Given the description of an element on the screen output the (x, y) to click on. 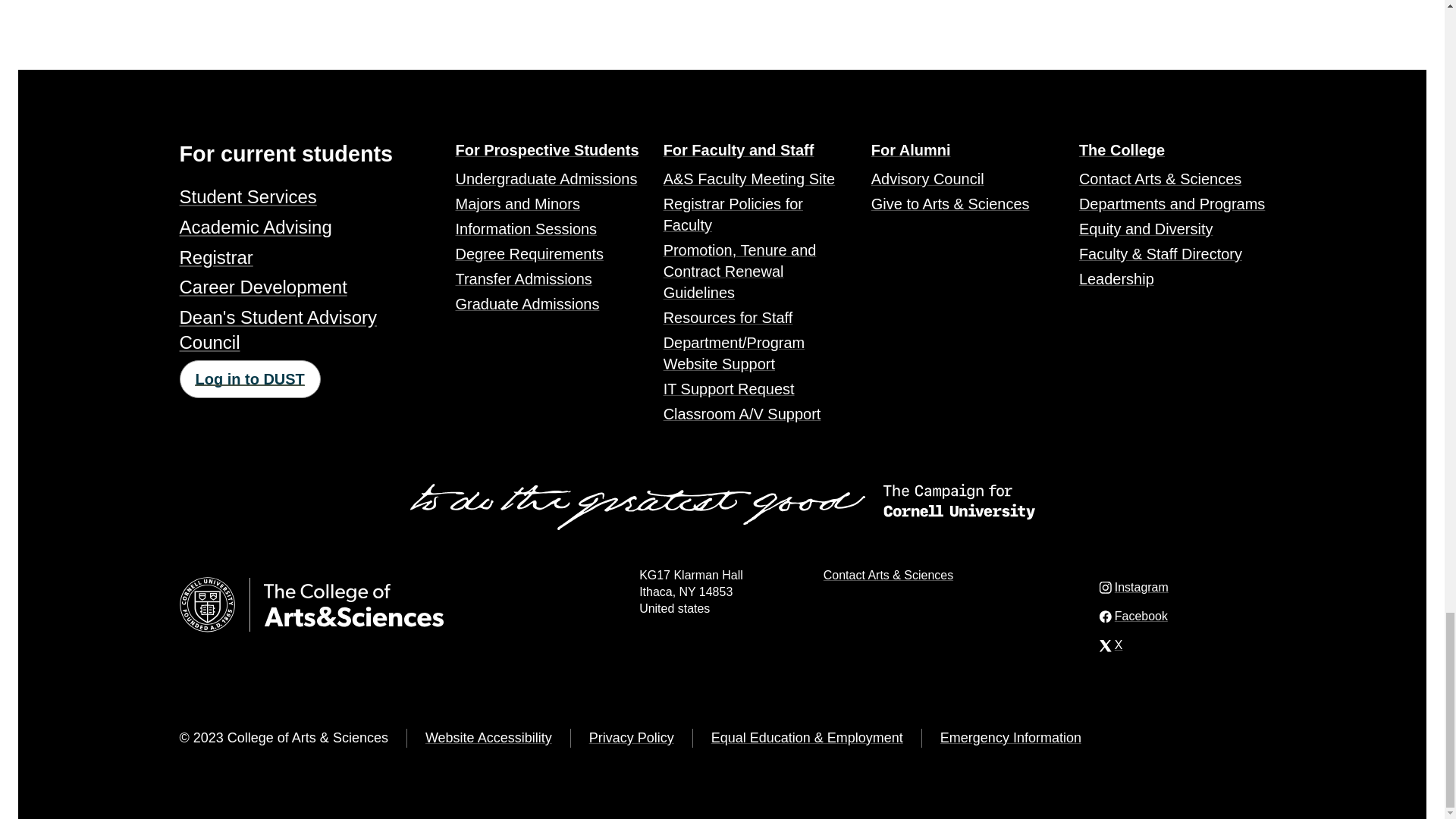
Cornell University (206, 604)
